Given the description of an element on the screen output the (x, y) to click on. 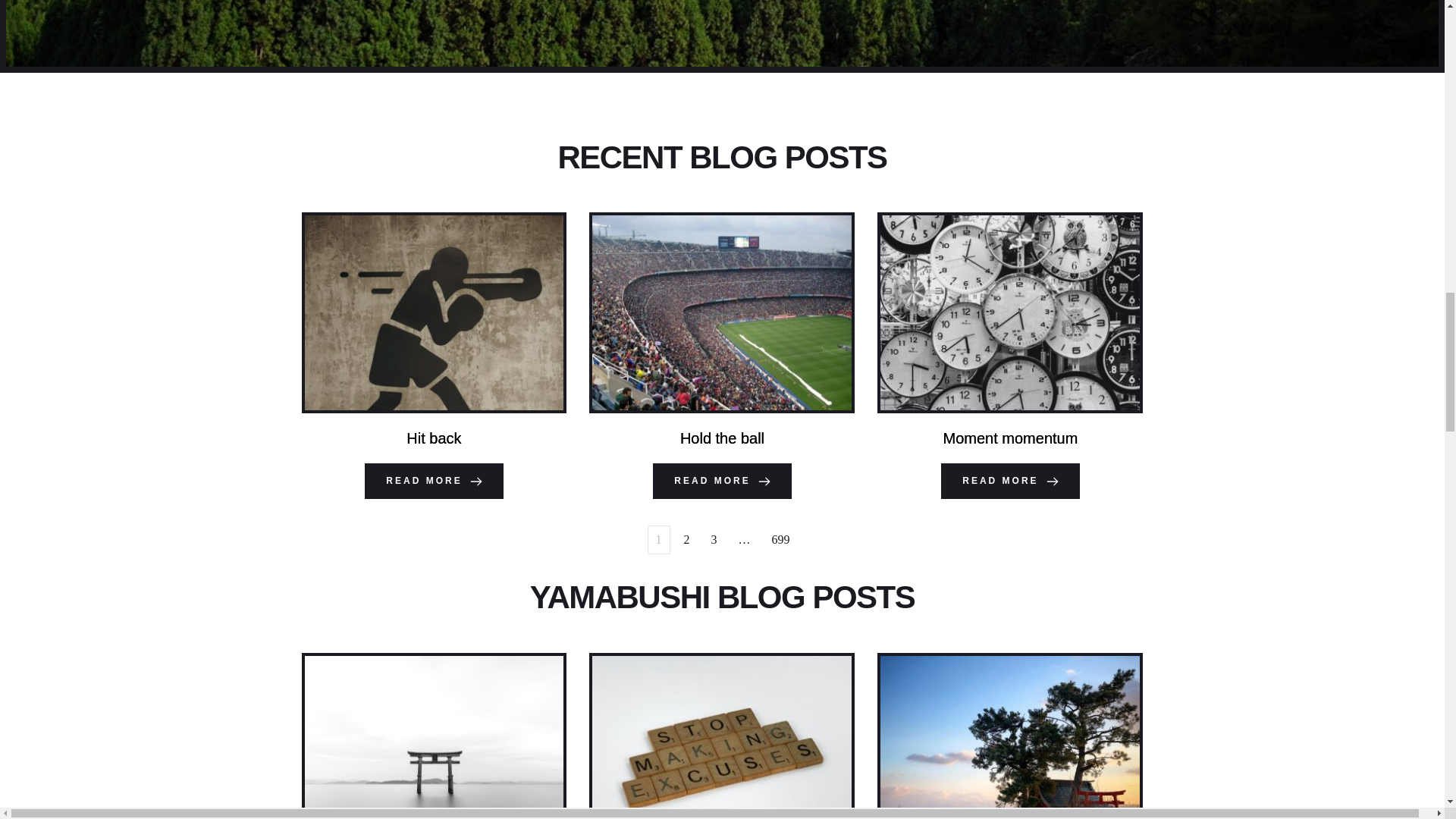
READ MORE (1009, 481)
699 (780, 539)
READ MORE (721, 481)
READ MORE (433, 481)
